Given the description of an element on the screen output the (x, y) to click on. 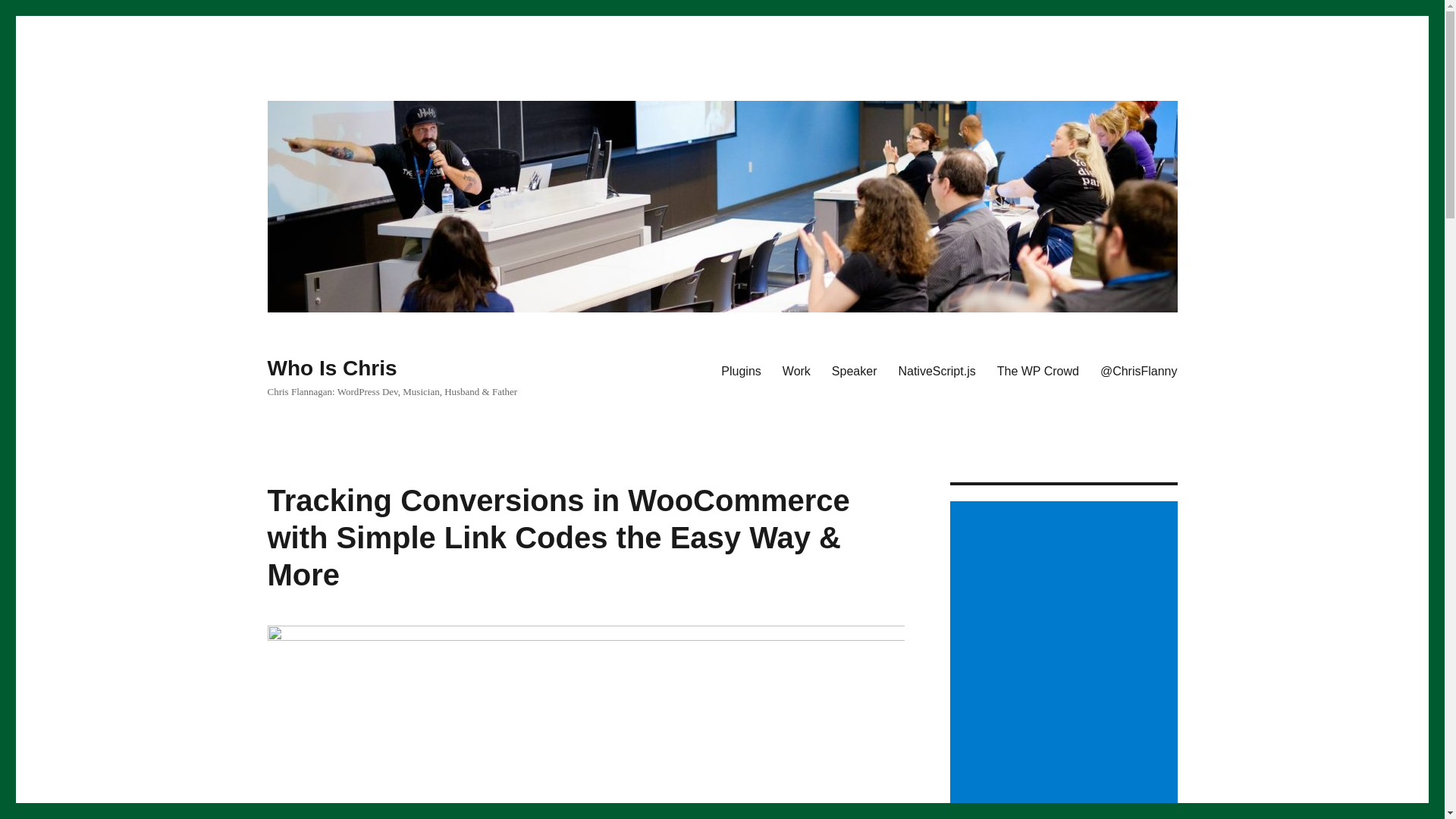
The WP Crowd (1038, 370)
Work (796, 370)
NativeScript.js (935, 370)
Speaker (854, 370)
Who Is Chris (331, 368)
Plugins (740, 370)
